Given the description of an element on the screen output the (x, y) to click on. 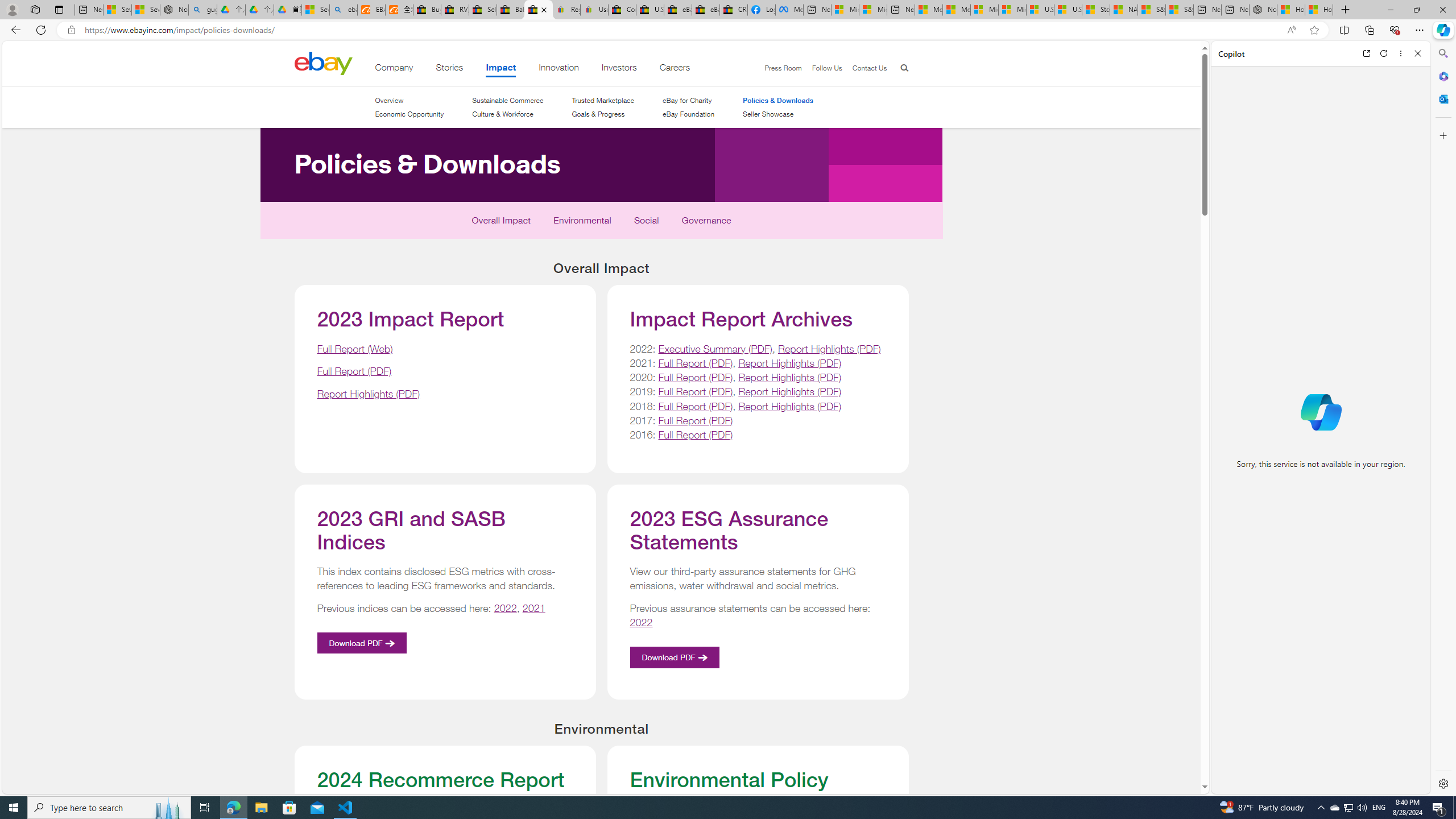
eBay Inc. Reports Third Quarter 2023 Results (706, 9)
Follow Us (826, 67)
Careers (674, 69)
Environmental (582, 222)
eBay Foundation (688, 113)
Seller Showcase (767, 113)
User Privacy Notice | eBay (593, 9)
Meta Store (789, 9)
Policies & Downloads - eBay Inc. (538, 9)
2021 (534, 608)
Executive Summary (PDF) (714, 348)
Overview (388, 99)
